Given the description of an element on the screen output the (x, y) to click on. 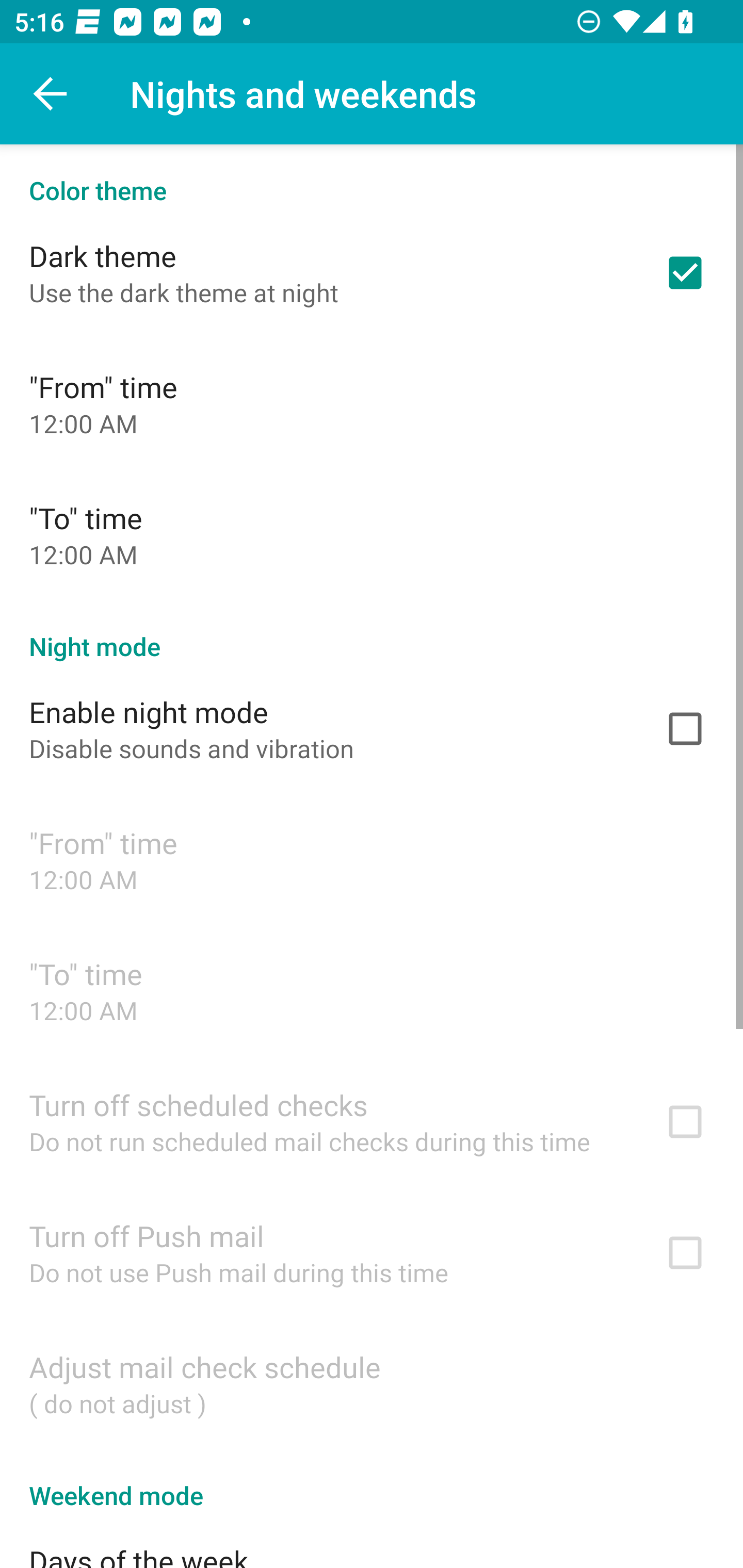
Navigate up (50, 93)
Dark theme Use the dark theme at night (371, 272)
"From" time 12:00 AM (371, 403)
"To" time 12:00 AM (371, 534)
Enable night mode Disable sounds and vibration (371, 728)
"From" time 12:00 AM (371, 859)
"To" time 12:00 AM (371, 990)
Adjust mail check schedule ( do not adjust ) (371, 1383)
